Given the description of an element on the screen output the (x, y) to click on. 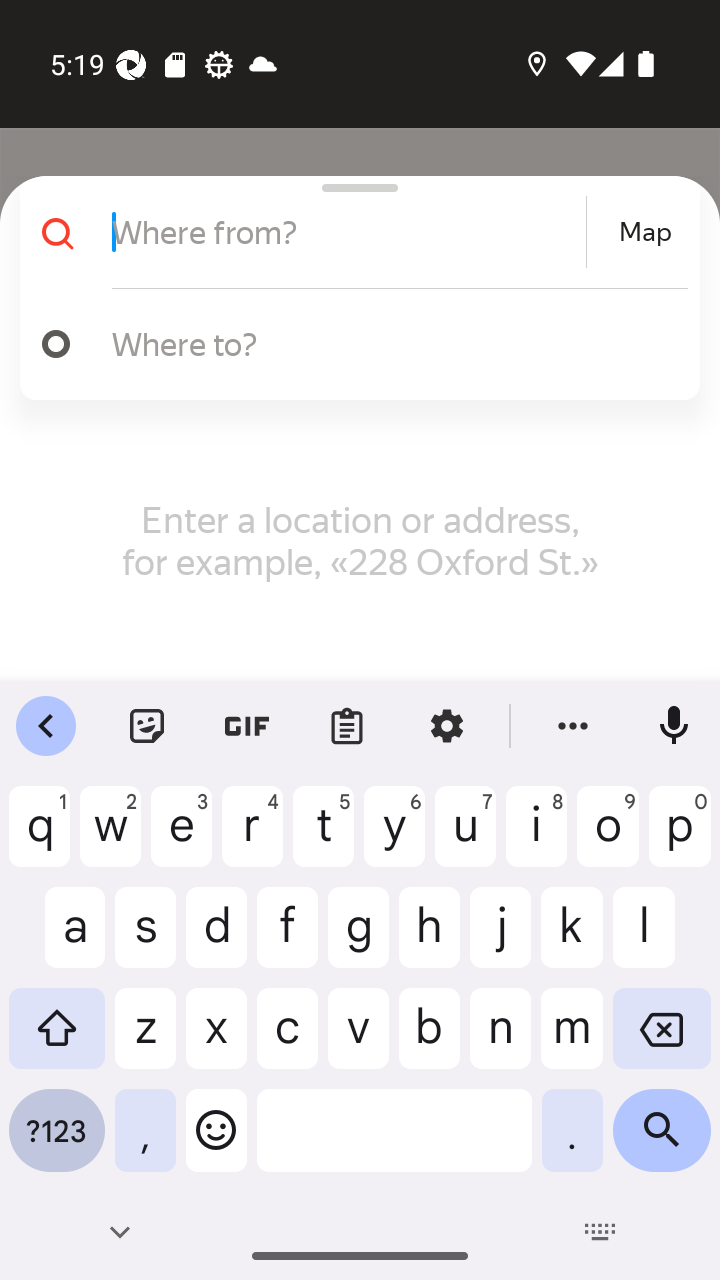
Where from? Map Map (352, 232)
Map (645, 232)
Where from? (346, 232)
Where to? (352, 343)
Where to? (390, 343)
